Given the description of an element on the screen output the (x, y) to click on. 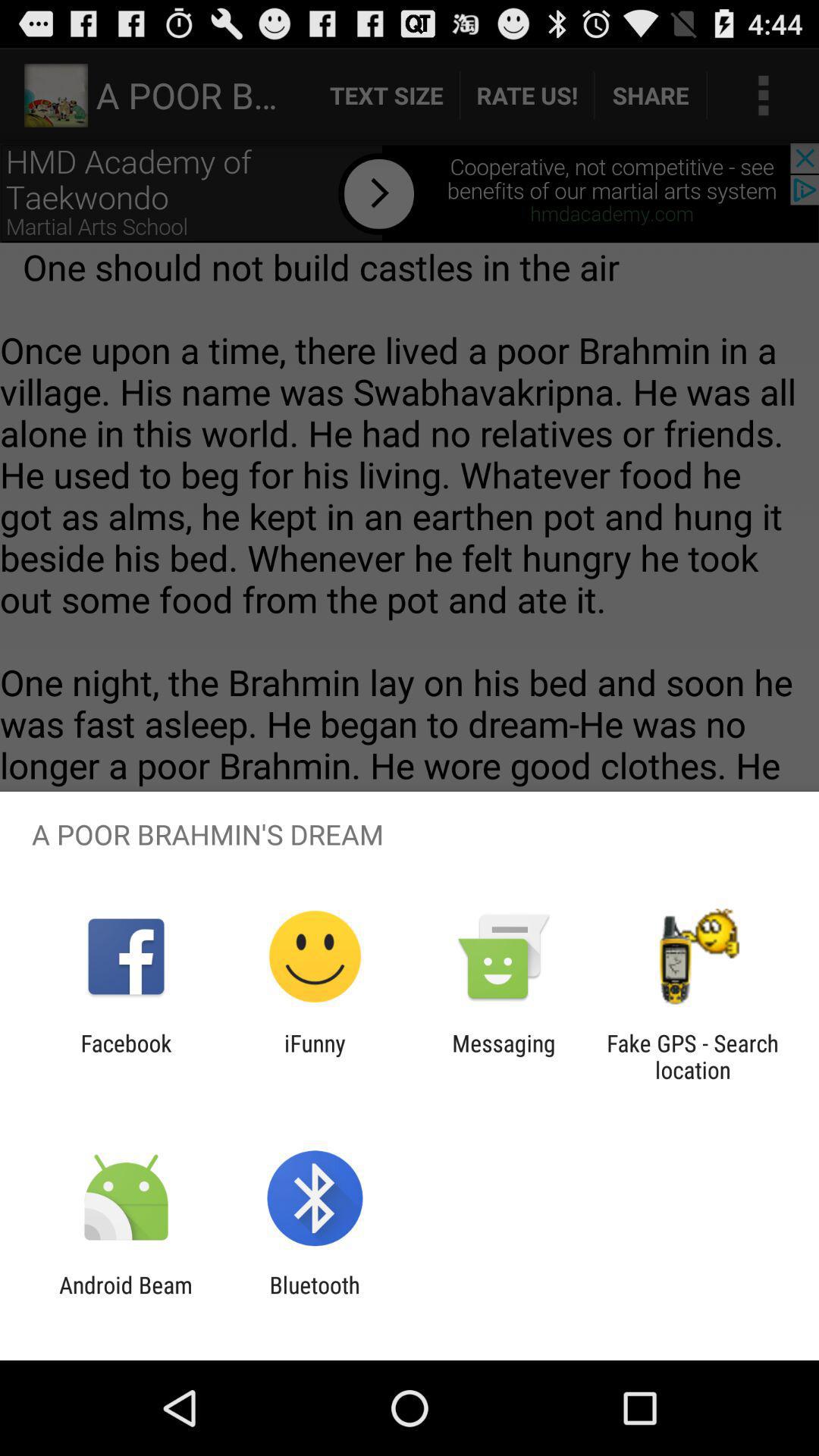
swipe until the bluetooth icon (314, 1298)
